Given the description of an element on the screen output the (x, y) to click on. 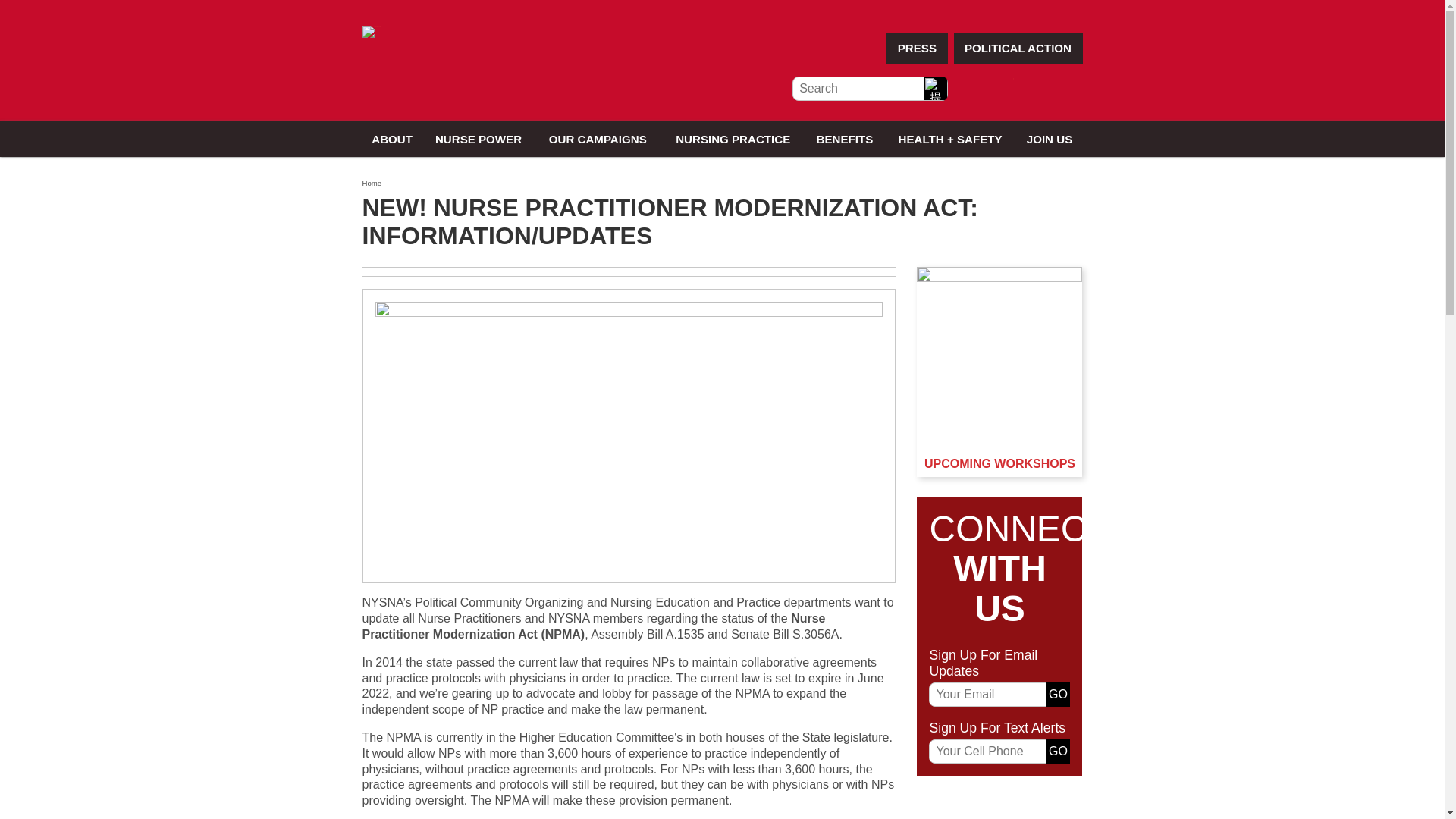
Go (1057, 751)
OUR CAMPAIGNS (597, 139)
NURSING PRACTICE (733, 139)
Enter the terms you wish to search for. (867, 88)
Go (1057, 694)
Twitter (1000, 88)
New York State Nurses Association (373, 31)
Instagram (1069, 88)
Facebook (965, 88)
NURSE POWER (478, 139)
PRESS (917, 47)
ABOUT (392, 139)
YouTube (1035, 88)
POLITICAL ACTION (1017, 47)
